Given the description of an element on the screen output the (x, y) to click on. 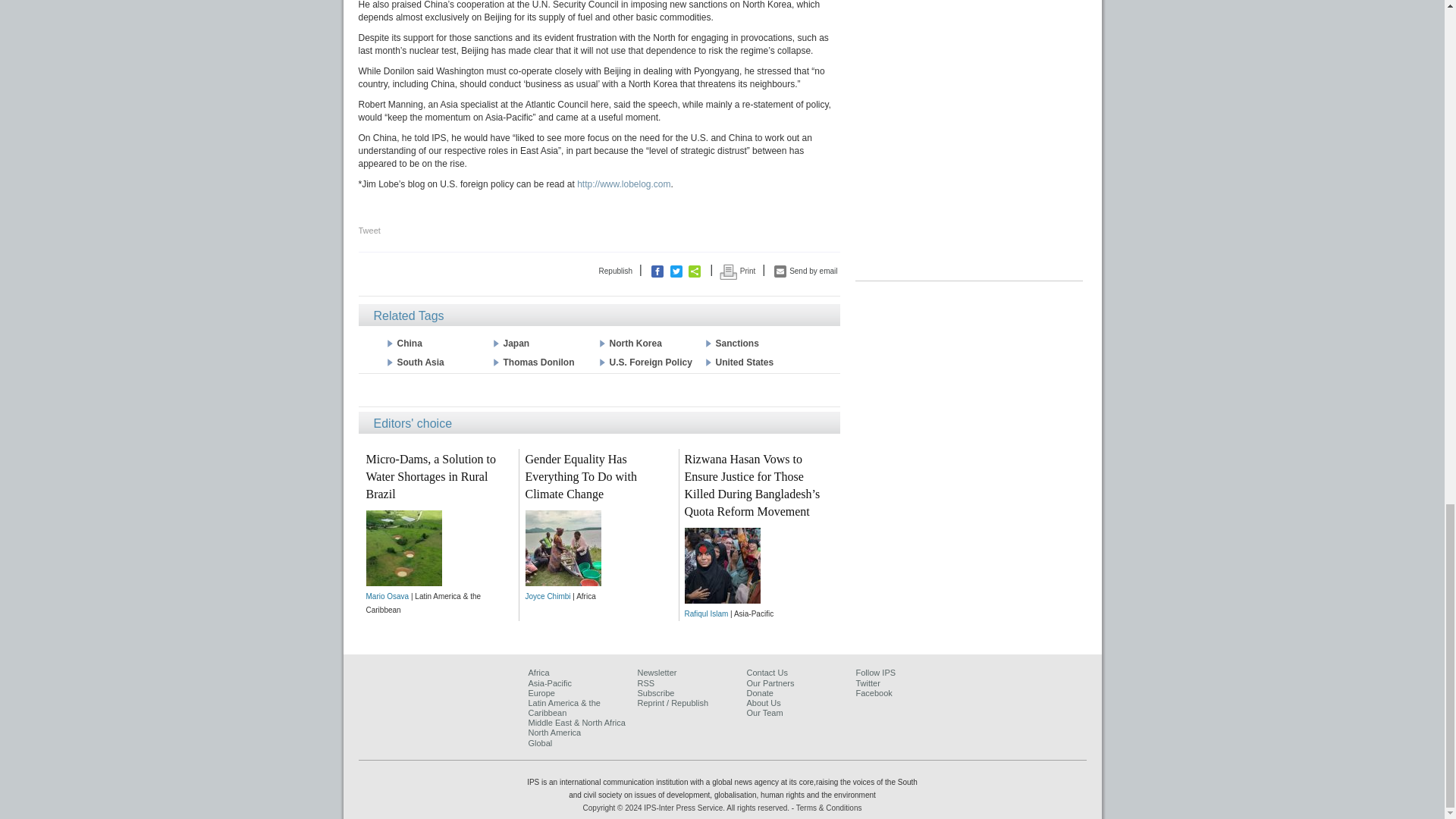
Posts by Joyce Chimbi (547, 596)
Posts by Mario Osava (387, 596)
Posts by Rafiqul Islam (706, 613)
